Given the description of an element on the screen output the (x, y) to click on. 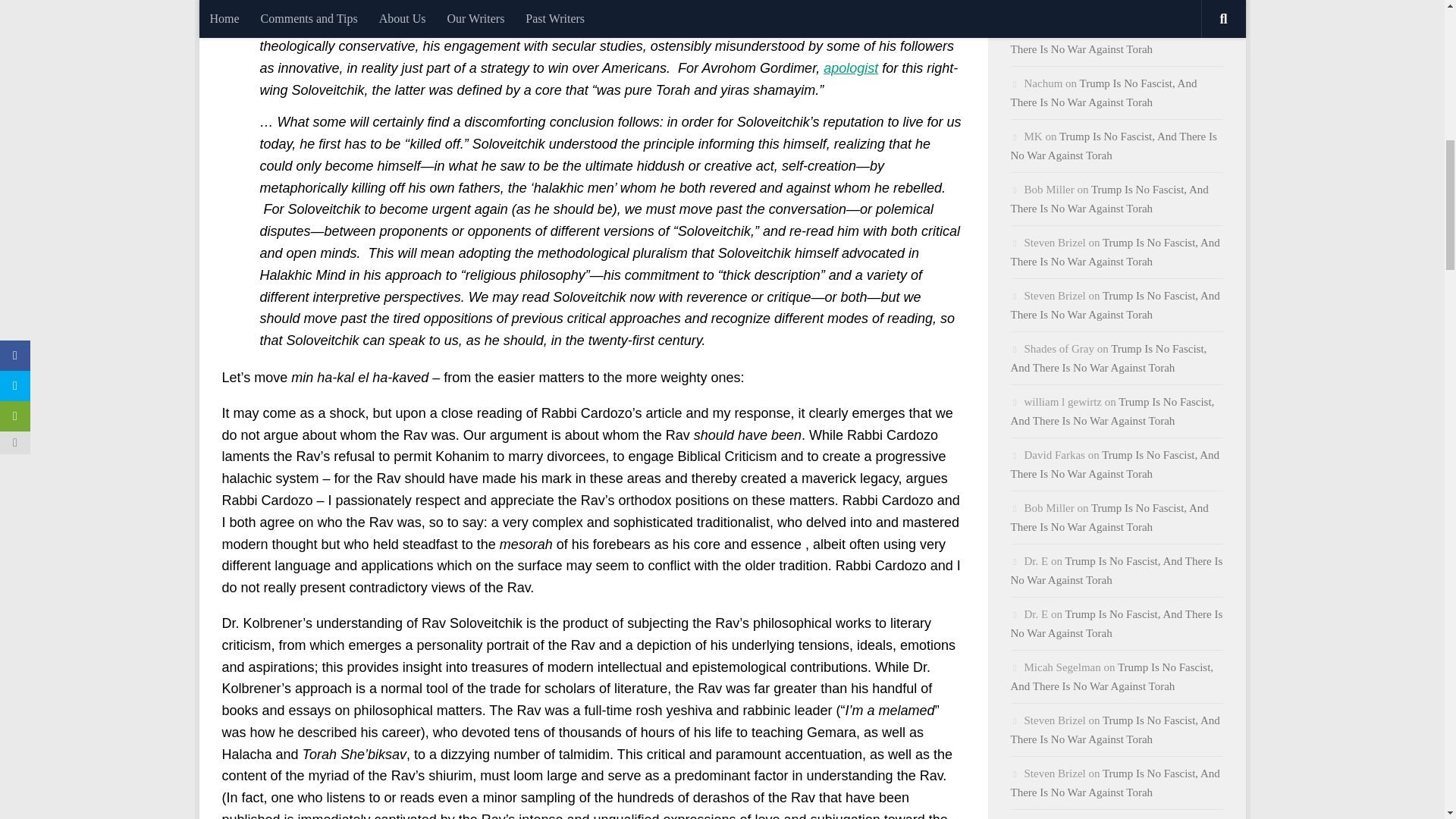
apologist (850, 68)
